Given the description of an element on the screen output the (x, y) to click on. 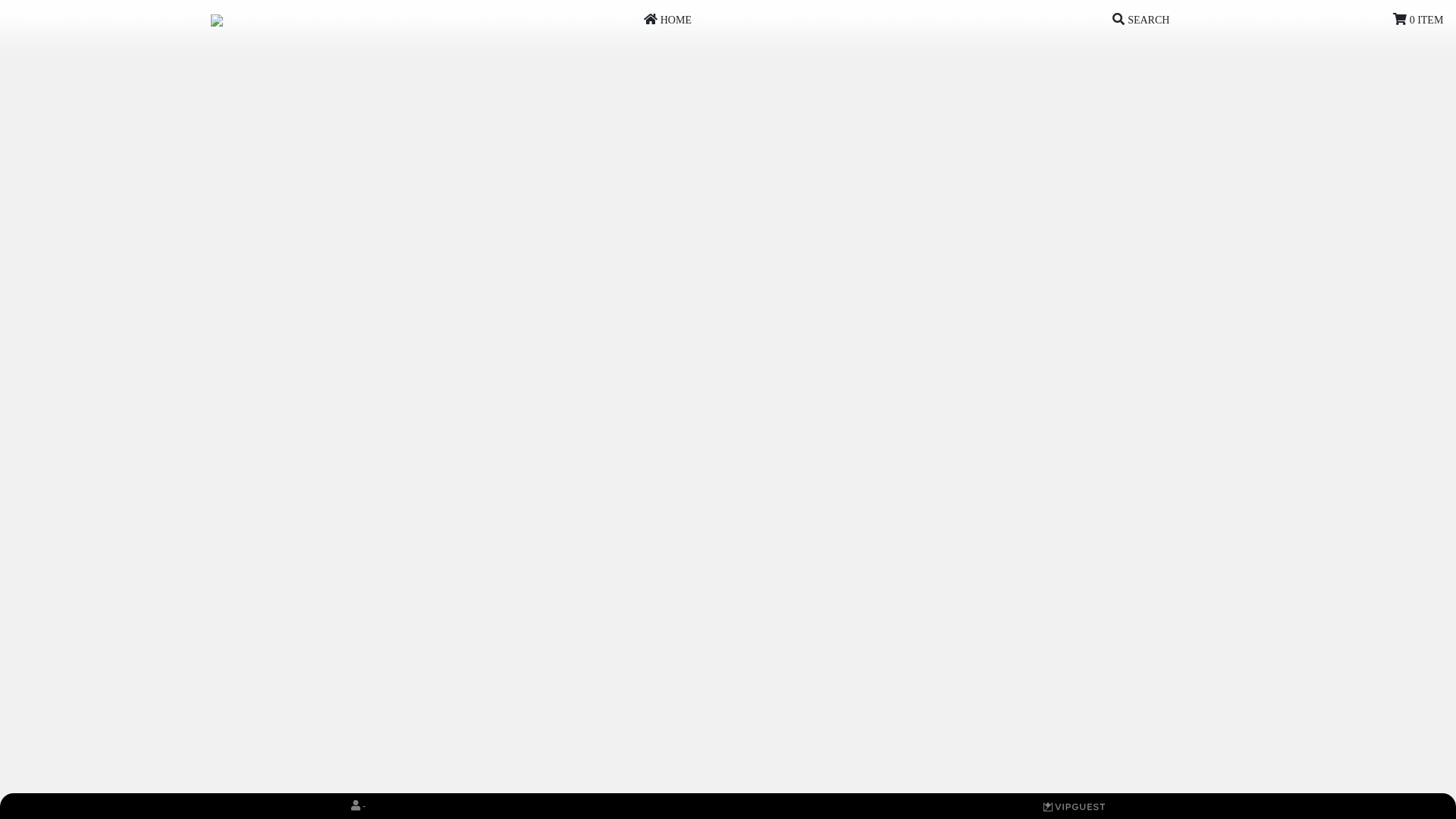
0 Element type: text (1073, 805)
- Element type: text (358, 805)
HOME Element type: text (667, 20)
SEARCH Element type: text (1141, 20)
